Given the description of an element on the screen output the (x, y) to click on. 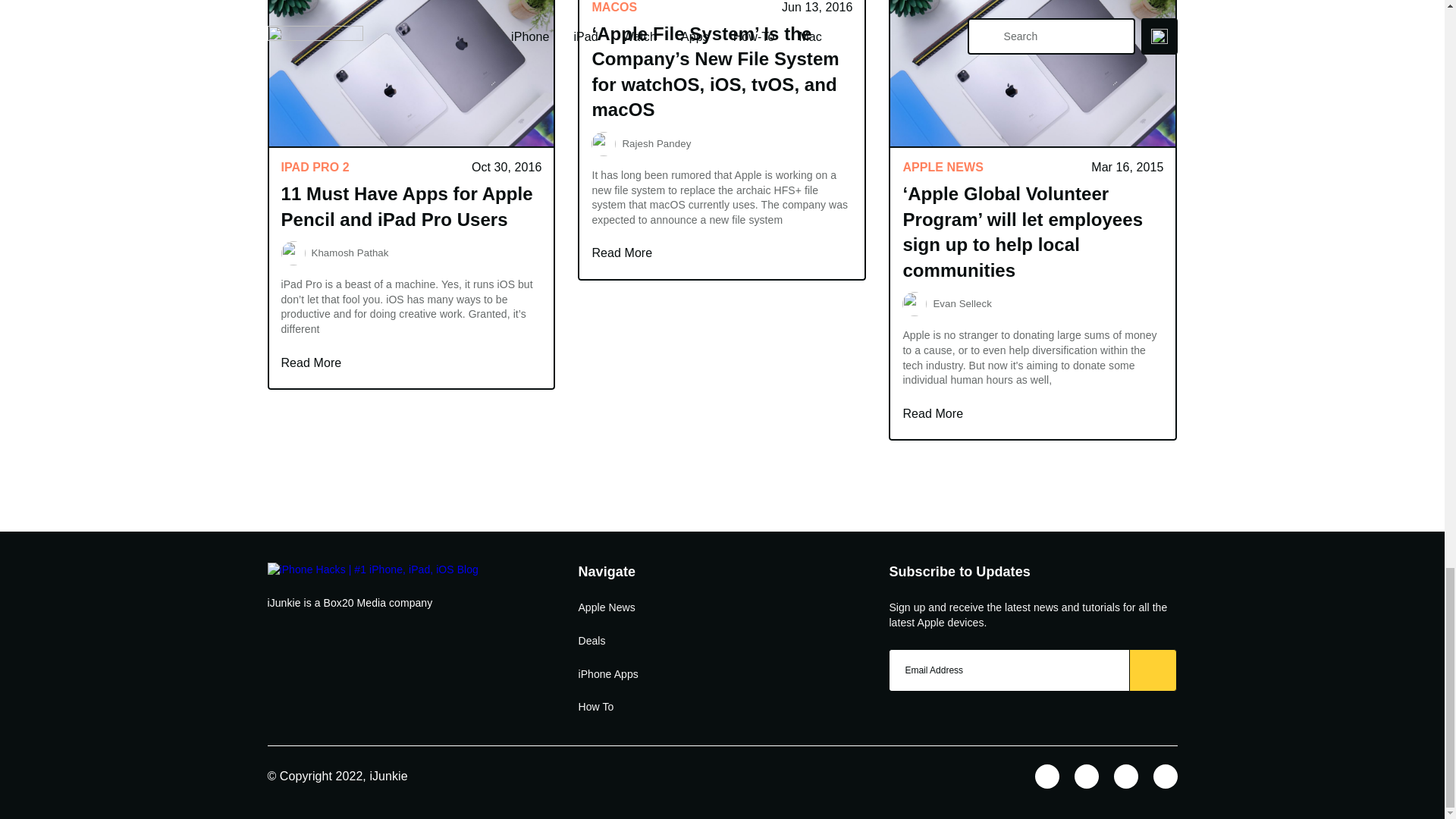
Apple News (606, 607)
How To (595, 707)
iPhone Apps (607, 674)
Deals (591, 641)
